Given the description of an element on the screen output the (x, y) to click on. 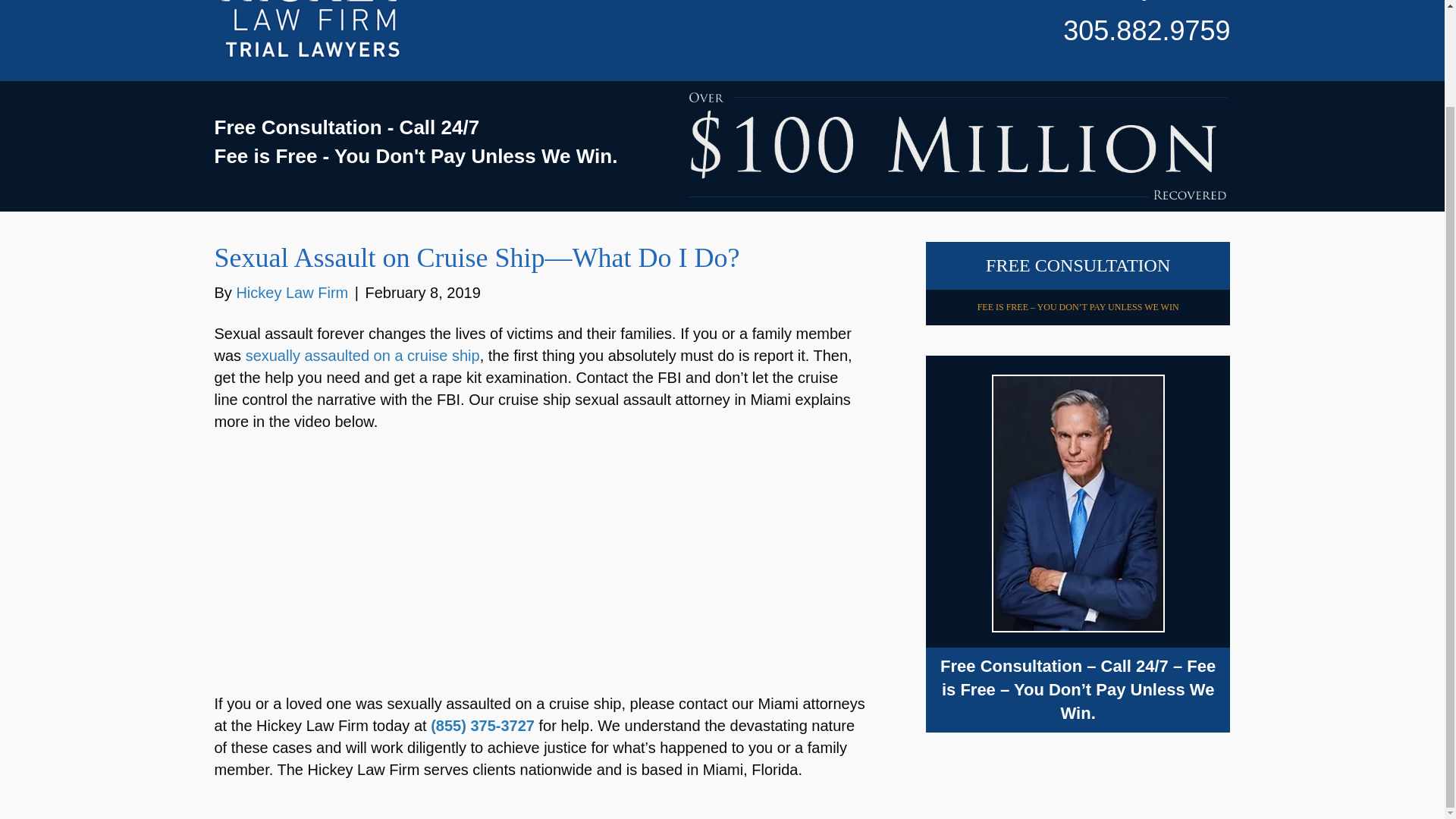
Home (744, 5)
Hickey Law Firm - Trial Lawyers (313, 33)
About Us (799, 5)
Over 100 Million Recovered Hickey Law Firm (957, 145)
Practice Areas (879, 5)
